Given the description of an element on the screen output the (x, y) to click on. 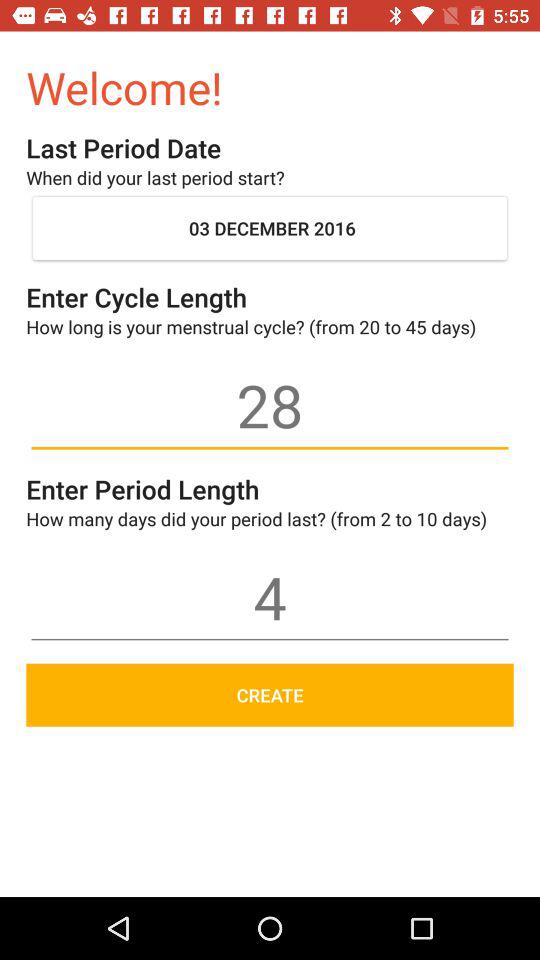
turn on 03 december 2016 item (270, 227)
